Given the description of an element on the screen output the (x, y) to click on. 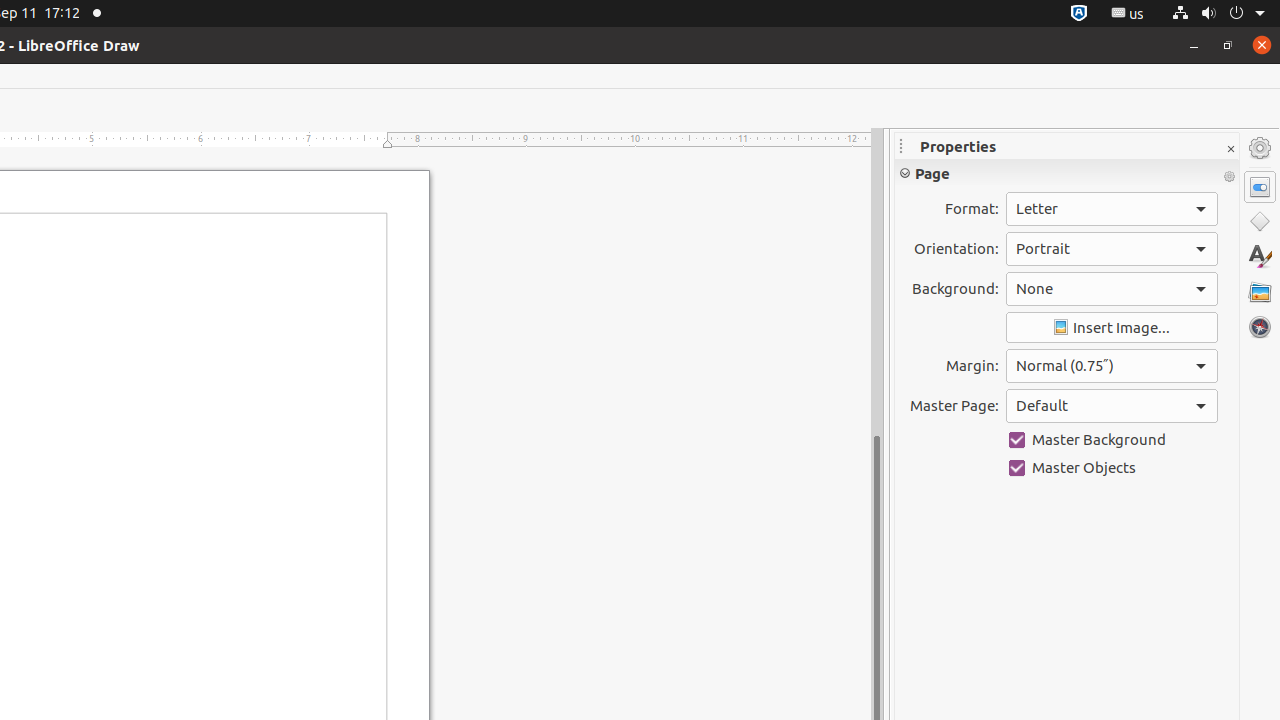
:1.21/StatusNotifierItem Element type: menu (1127, 13)
Orientation: Element type: combo-box (1112, 249)
